Given the description of an element on the screen output the (x, y) to click on. 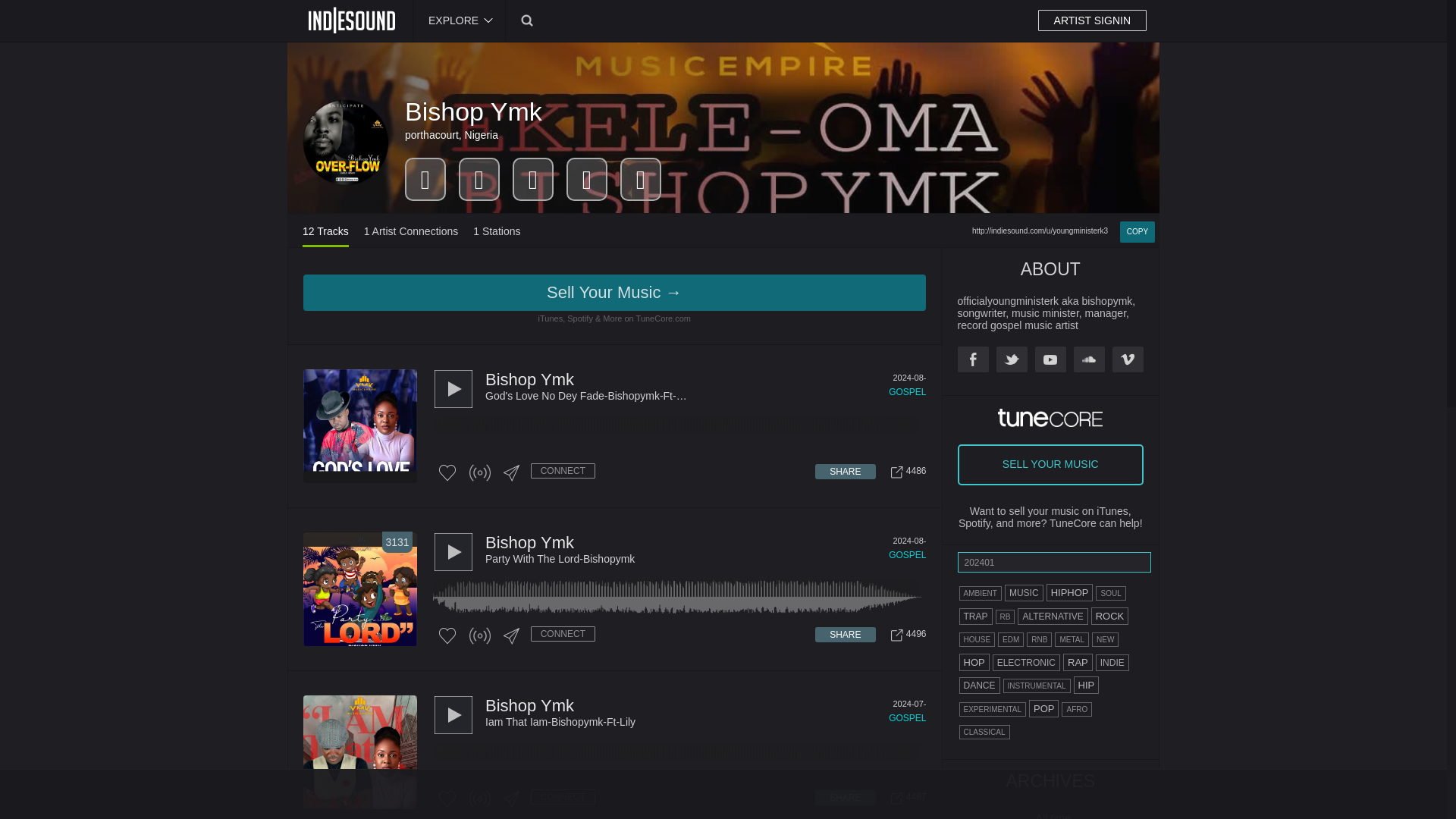
View Vimeo profile (1127, 359)
View Twitter profile (1011, 359)
Party With The Lord-Bishopymk (705, 558)
God'S Love No Dey Fade-Bishopymk-Ft-Lily (705, 395)
Click here to Visit Track Page (904, 797)
1 Stations (496, 236)
View Youtube profile (1050, 359)
ARTIST SIGNIN (1092, 20)
Bishop Ymk (528, 379)
CONNECT (1092, 20)
Bishop Ymk (472, 111)
View Soundcloud profile (1089, 359)
Click here to Visit Track Page (904, 634)
View Facebook profile (972, 359)
GOSPEL (907, 391)
